Given the description of an element on the screen output the (x, y) to click on. 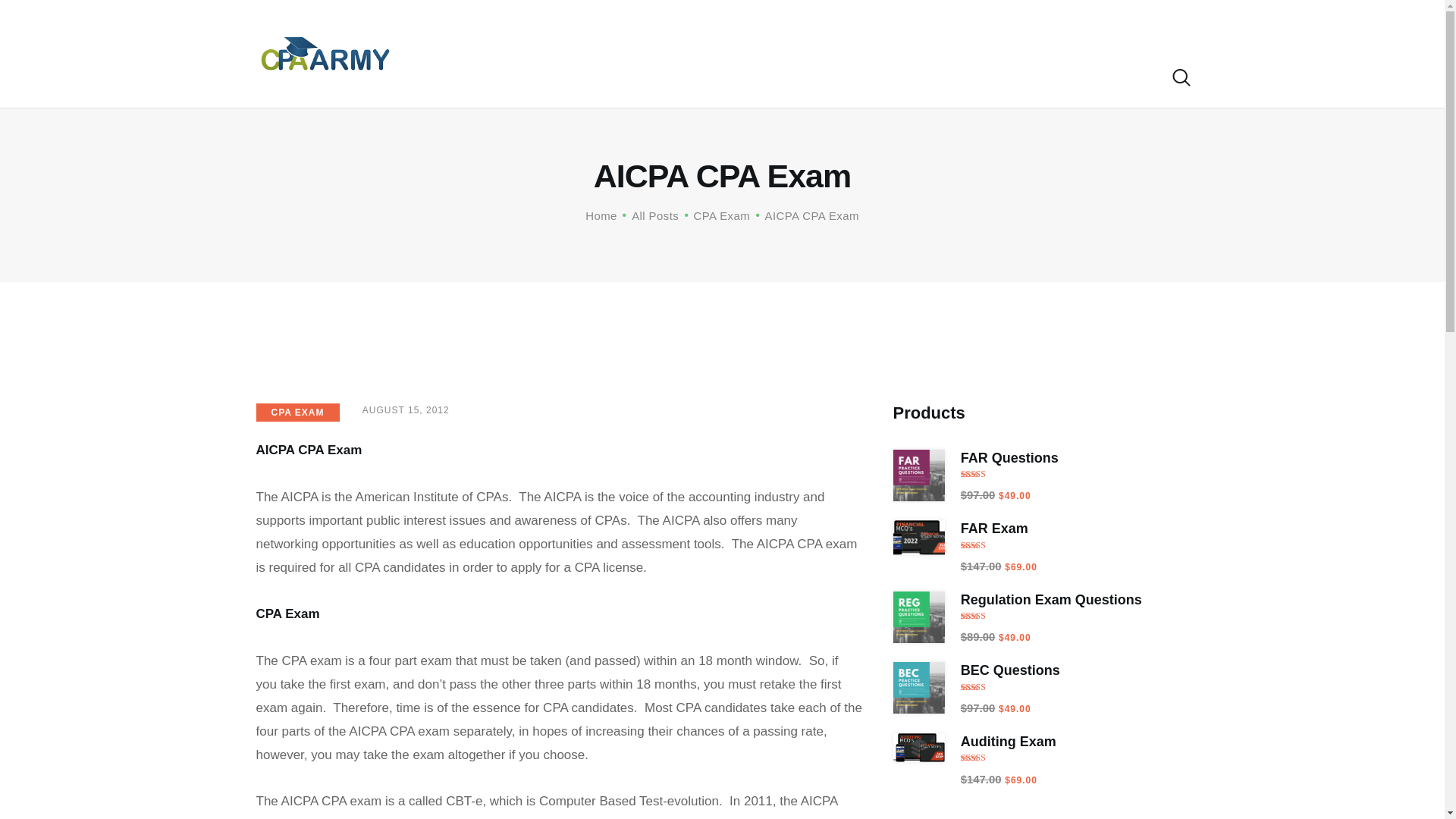
Home (601, 215)
All Posts (654, 215)
CPA Exam (722, 215)
